Given the description of an element on the screen output the (x, y) to click on. 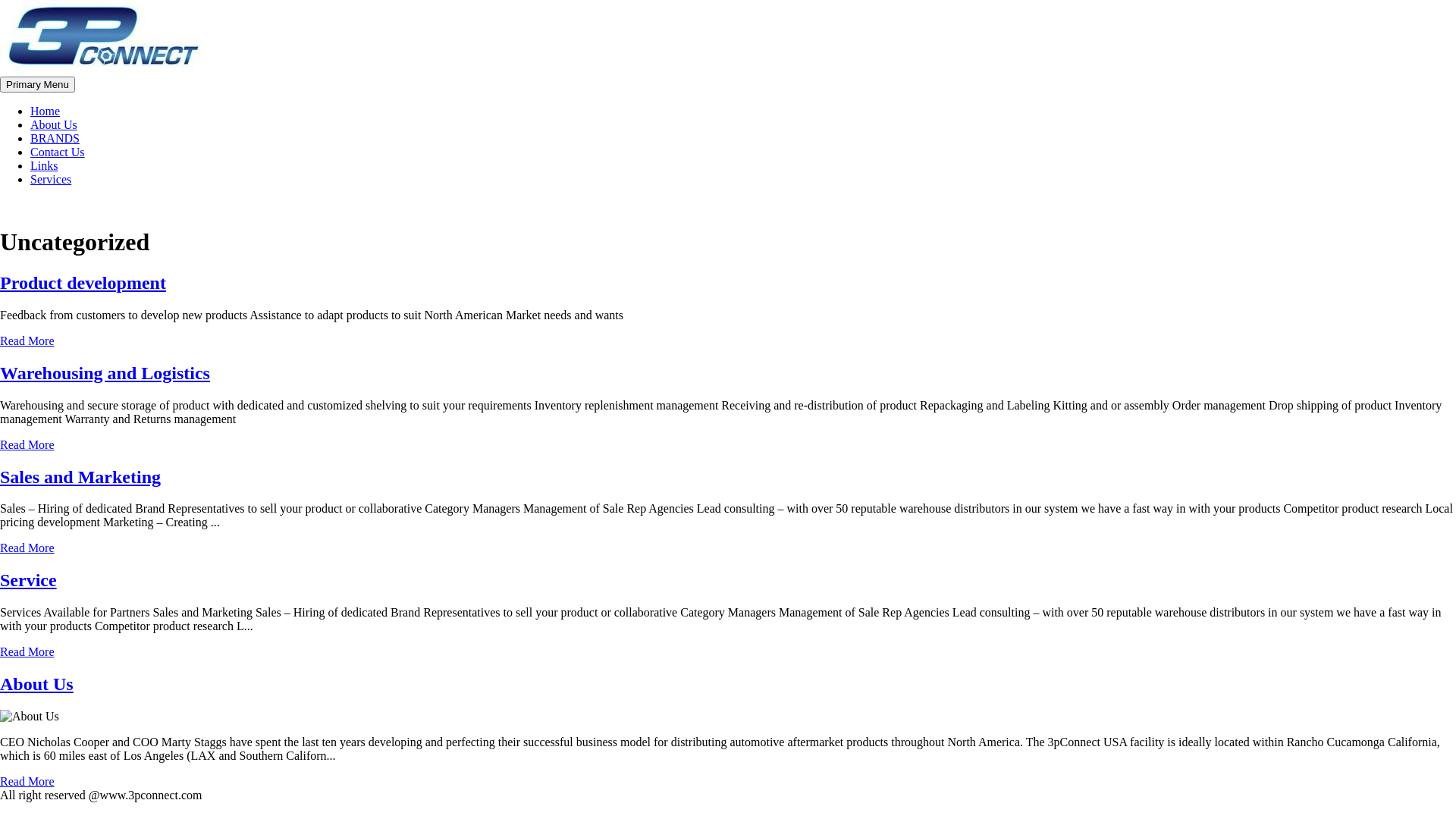
Services Element type: text (50, 178)
Contact Us Element type: text (57, 151)
Service Element type: text (28, 579)
Product development Element type: text (83, 282)
Warehousing and Logistics Element type: text (105, 372)
Primary Menu Element type: text (37, 84)
Read More Element type: text (27, 781)
About Us Element type: text (53, 124)
Home Element type: text (44, 110)
Read More Element type: text (27, 444)
Links Element type: text (43, 165)
Read More Element type: text (27, 547)
BRANDS Element type: text (54, 137)
Read More Element type: text (27, 340)
About Us Element type: text (36, 683)
Sales and Marketing Element type: text (80, 476)
Read More Element type: text (27, 651)
